Given the description of an element on the screen output the (x, y) to click on. 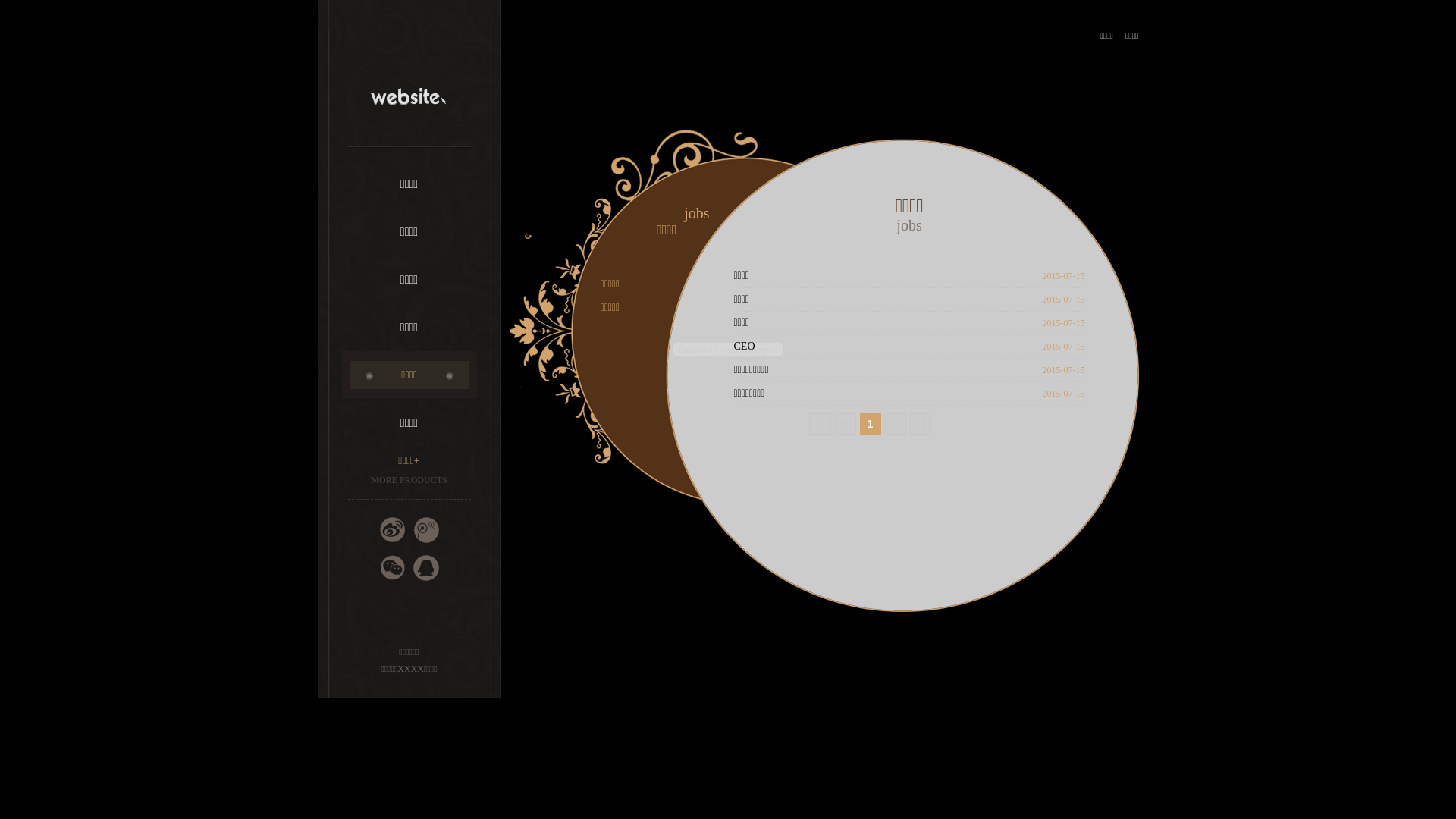
<< Element type: text (844, 423)
|< Element type: text (820, 423)
>| Element type: text (920, 423)
1 Element type: text (870, 423)
CEO Element type: text (870, 346)
>> Element type: text (894, 423)
MORE PRODUCTS Element type: text (408, 479)
